Given the description of an element on the screen output the (x, y) to click on. 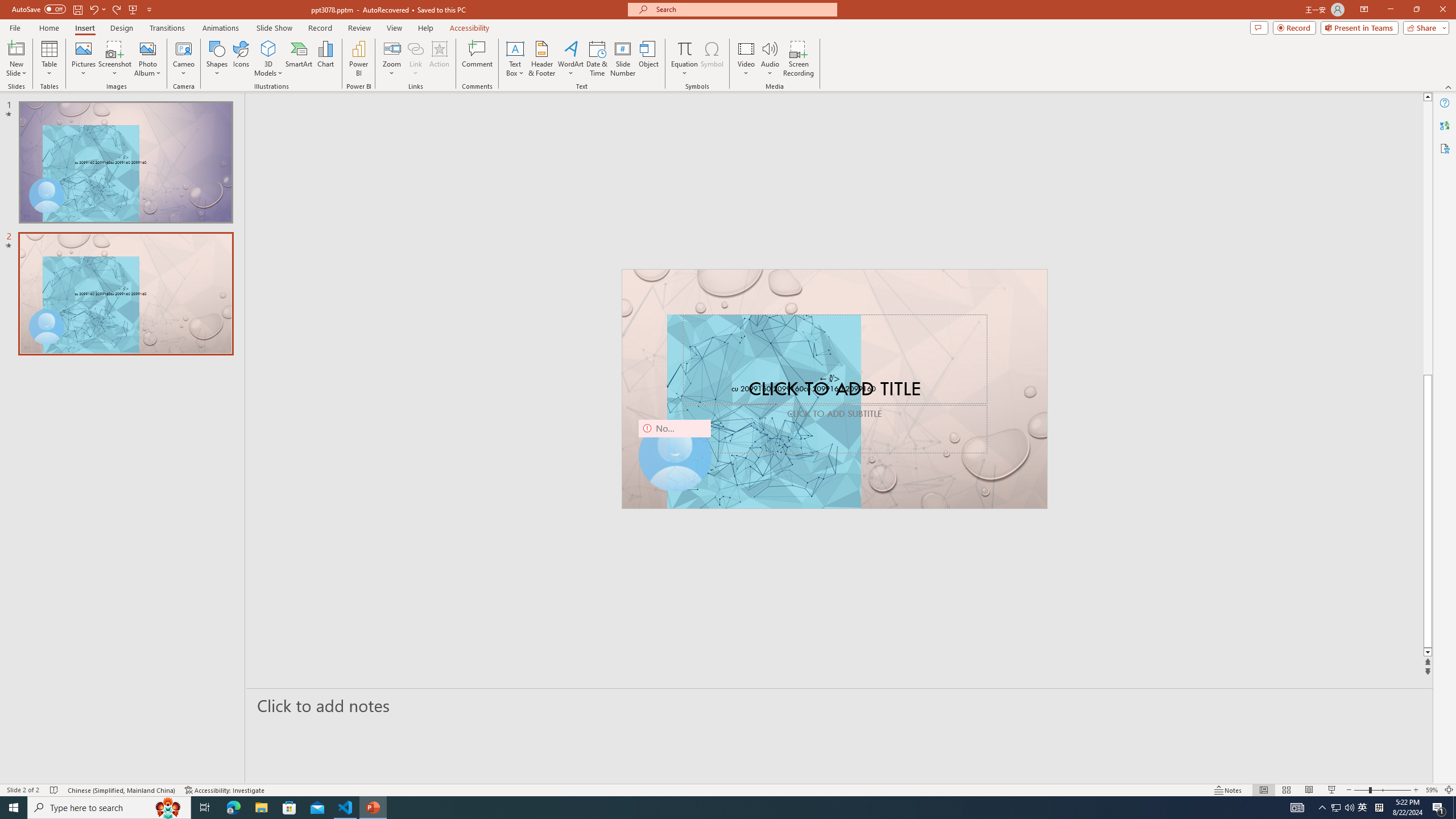
Icons (240, 58)
Screen Recording... (798, 58)
Table (49, 58)
Symbol... (711, 58)
Zoom 59% (1431, 790)
